Given the description of an element on the screen output the (x, y) to click on. 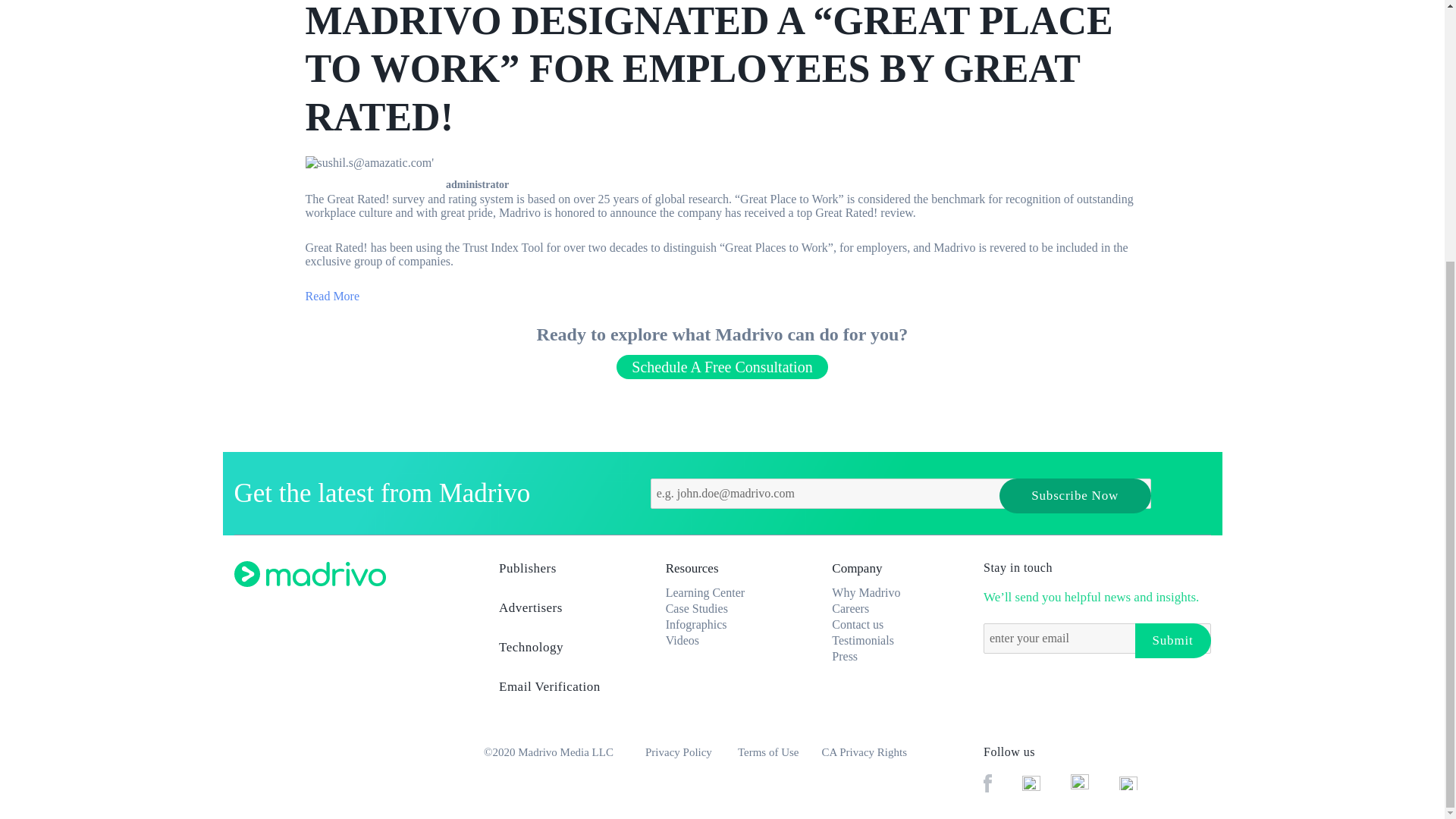
Email Verification (563, 691)
Careers (850, 608)
Advertisers (563, 612)
Subscribe Now (1074, 495)
Infographics (695, 624)
Technology (563, 651)
Submit (1171, 640)
Company (856, 568)
logo (308, 574)
Publishers (563, 573)
Contact us (857, 624)
Case Studies (696, 608)
Videos (681, 640)
Read More (331, 295)
Why Madrivo (865, 592)
